Given the description of an element on the screen output the (x, y) to click on. 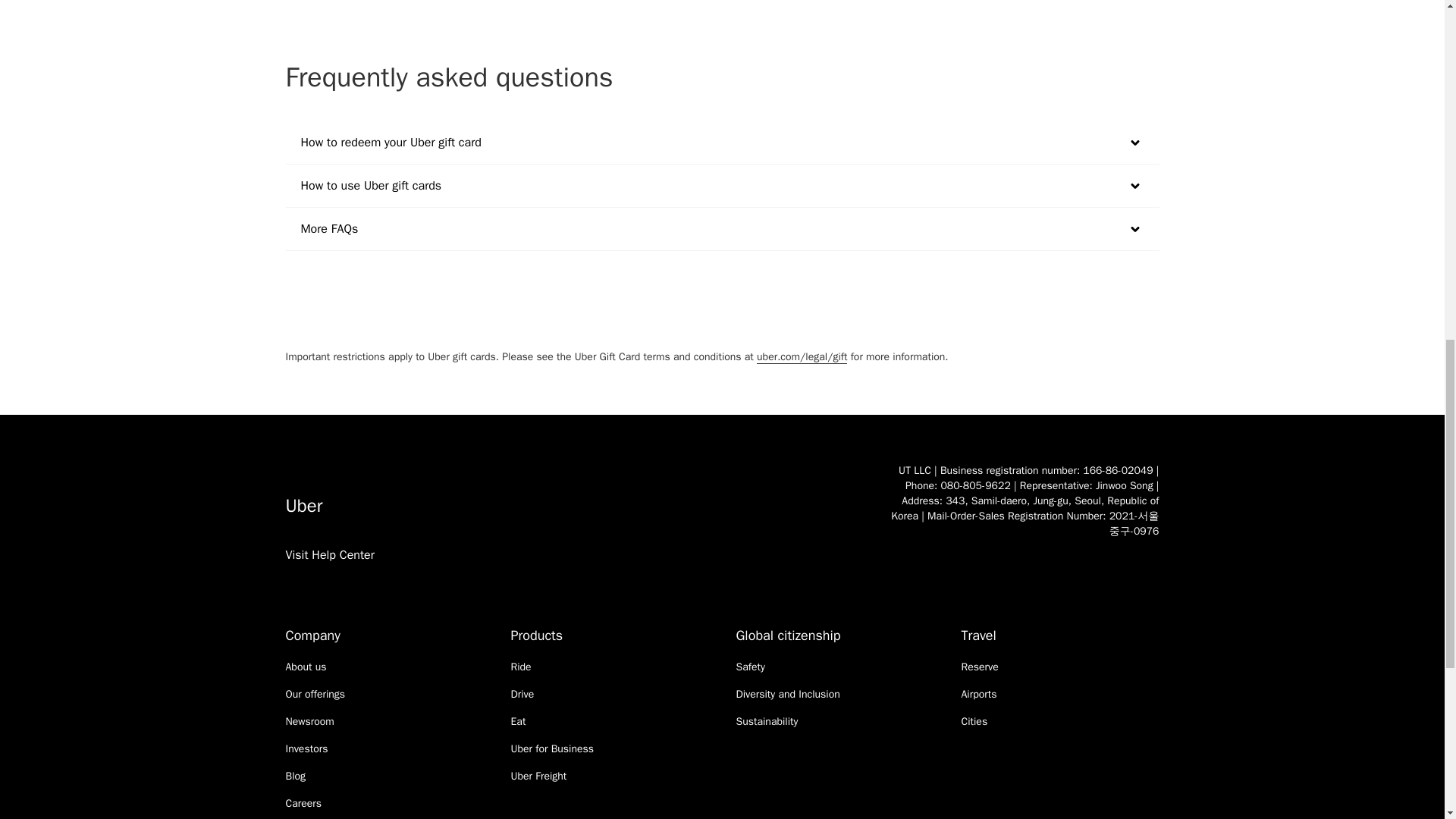
Drive (522, 694)
Blog (295, 776)
About us (305, 667)
Newsroom (309, 721)
Our offerings (315, 694)
Ride (521, 667)
Down Small (1134, 186)
Uber (572, 504)
Careers (303, 803)
Investors (306, 749)
